Given the description of an element on the screen output the (x, y) to click on. 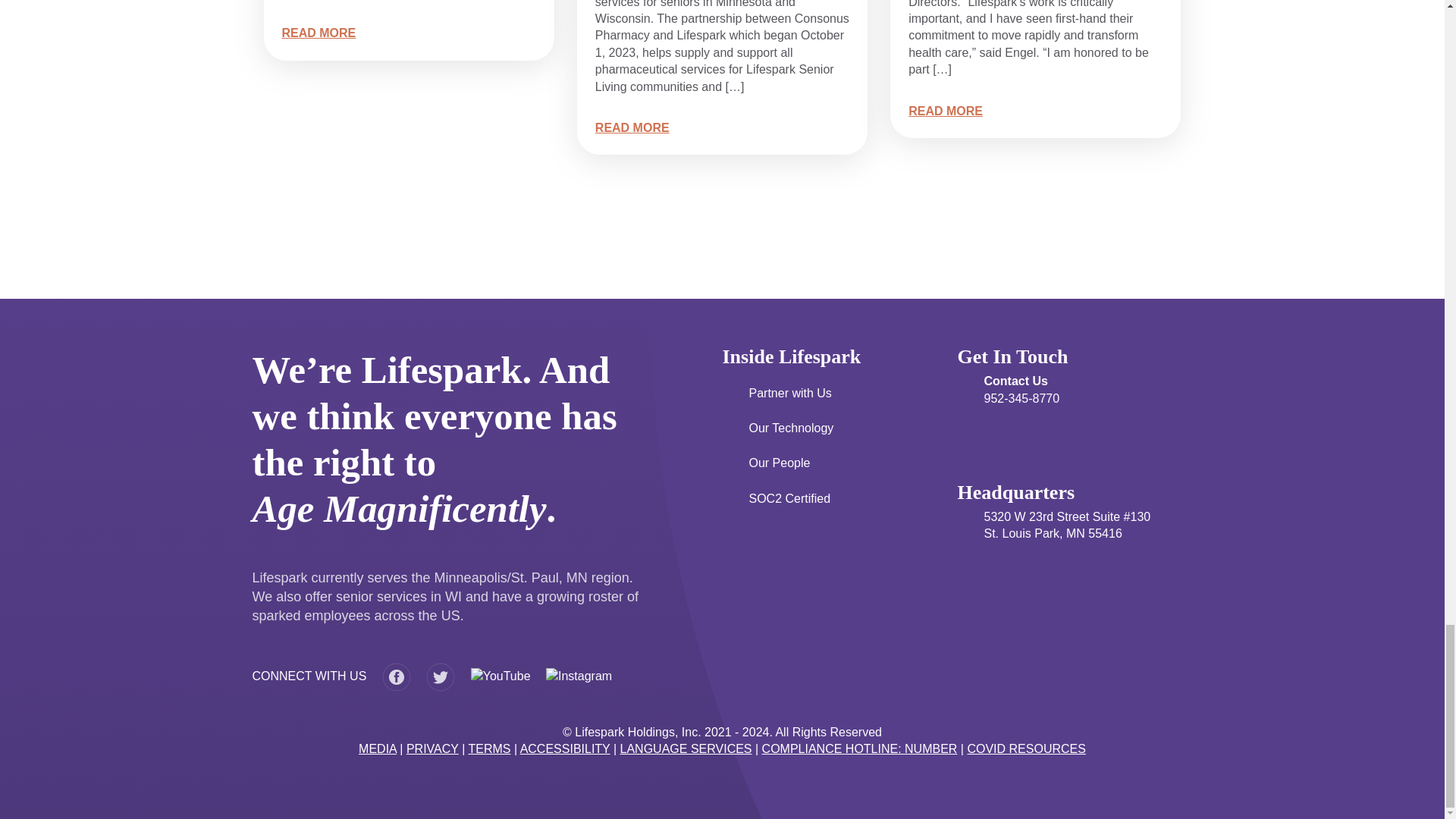
READ MORE (632, 127)
READ MORE (945, 110)
READ MORE (319, 32)
